Given the description of an element on the screen output the (x, y) to click on. 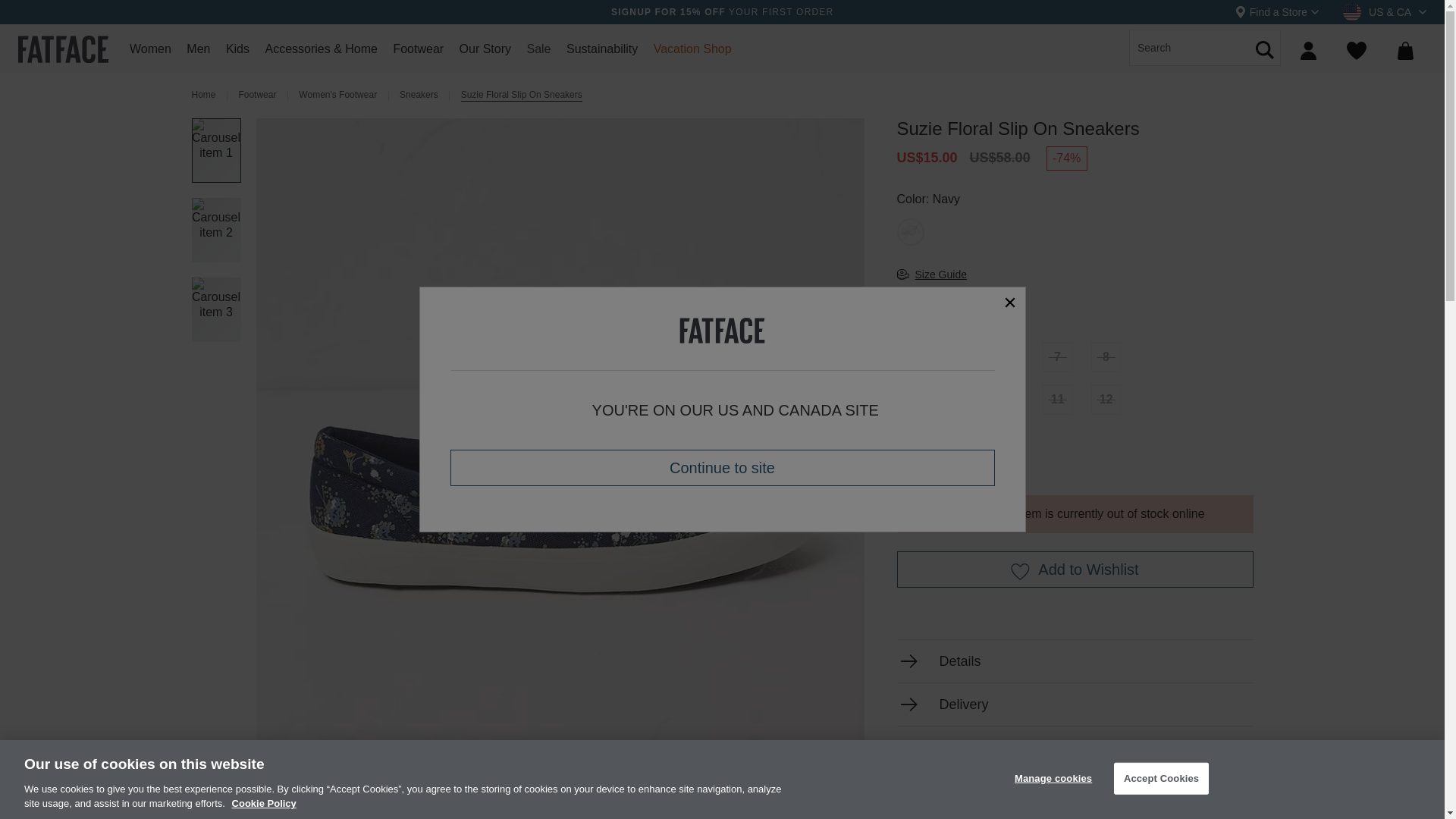
Go to Sneakers (418, 95)
Go to Women's Footwear (337, 95)
Find a Store (1277, 12)
Search (1264, 84)
Go to Home (202, 95)
FatFace (62, 47)
Go to Footwear (257, 95)
Women (150, 53)
